Given the description of an element on the screen output the (x, y) to click on. 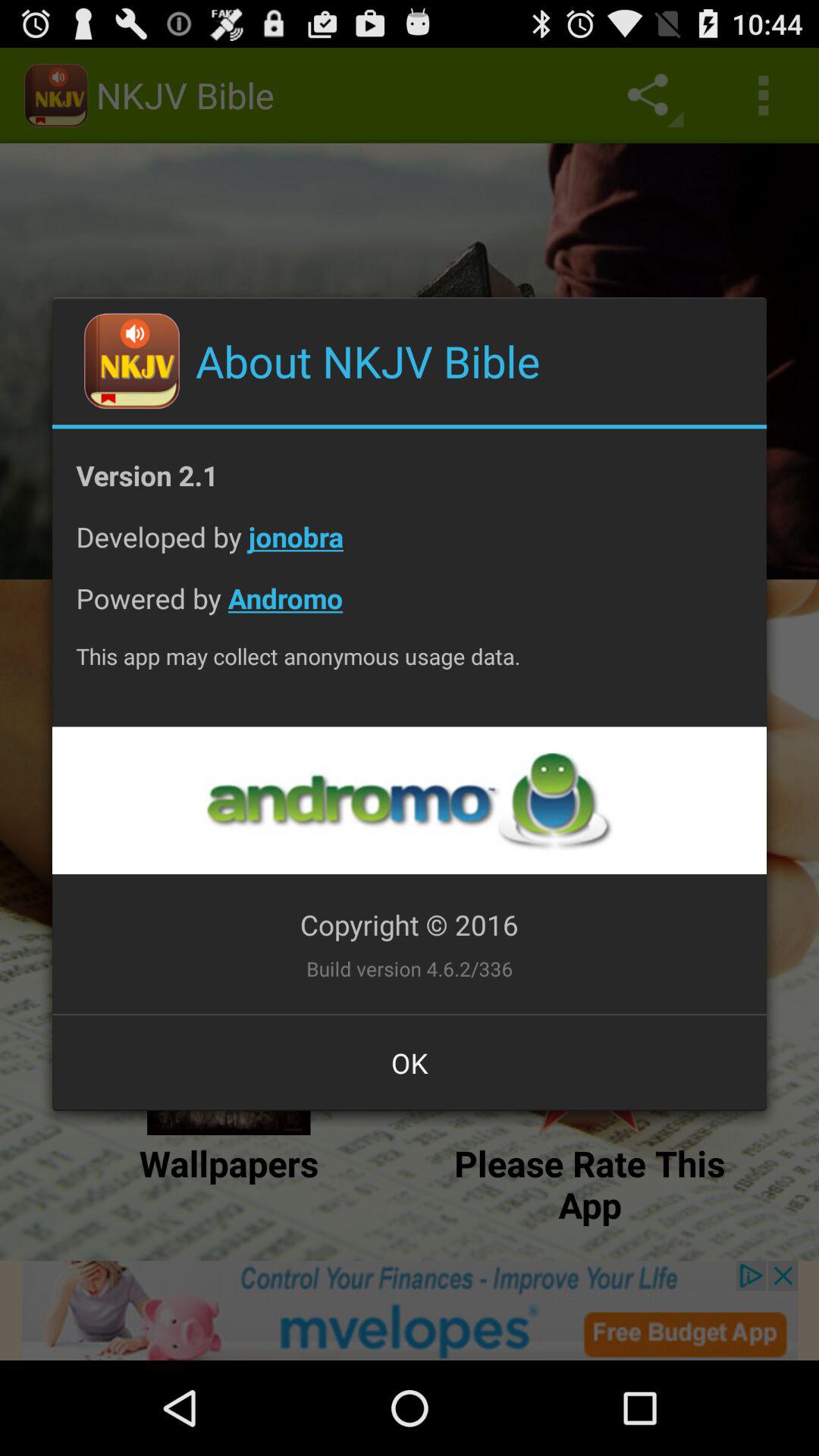
click app below this app may (408, 800)
